Given the description of an element on the screen output the (x, y) to click on. 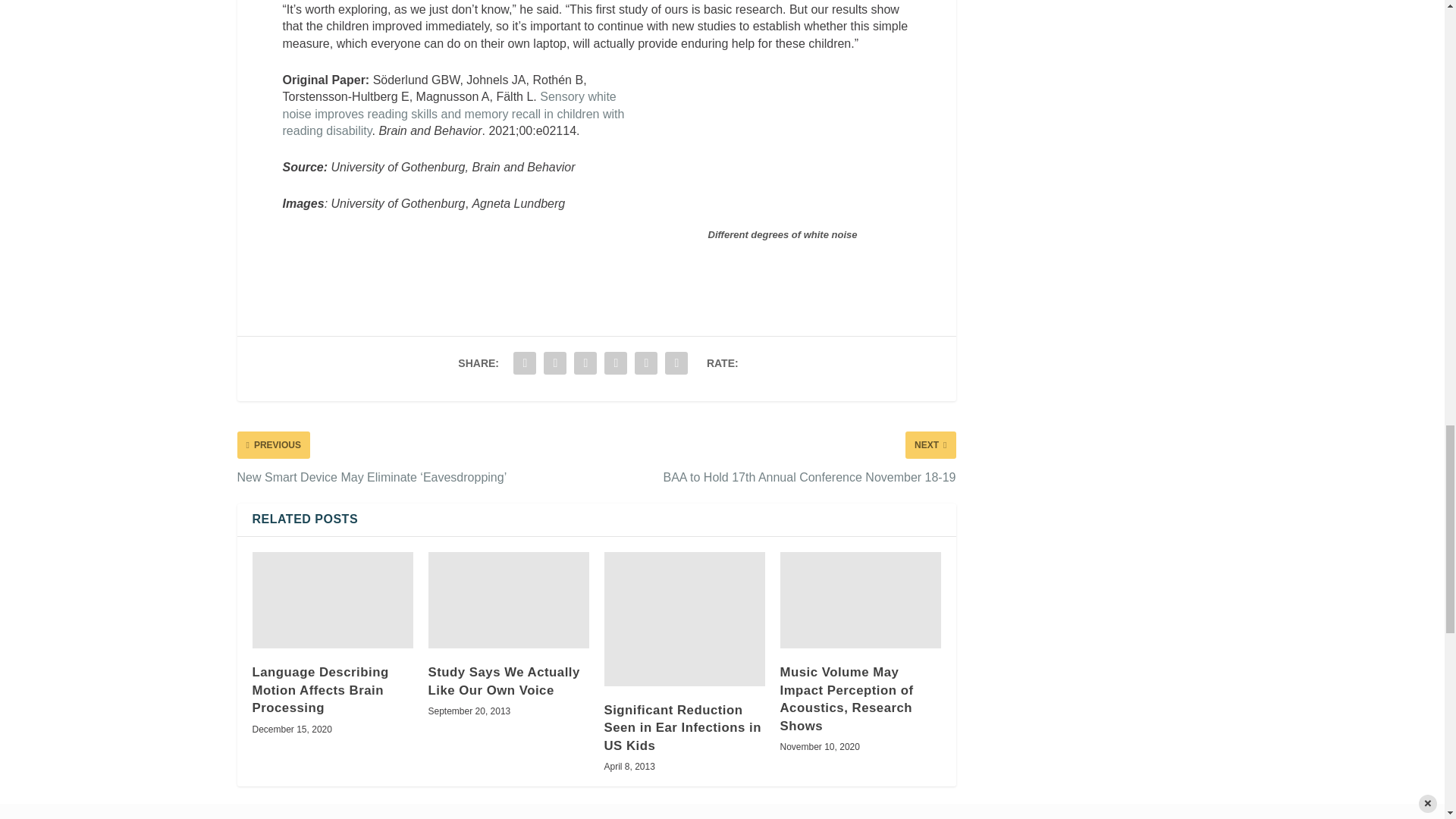
Study Says We Actually Like Our Own Voice (508, 600)
Language Describing Motion Affects Brain Processing (331, 600)
Significant Reduction Seen in Ear Infections in US Kids (684, 619)
